Given the description of an element on the screen output the (x, y) to click on. 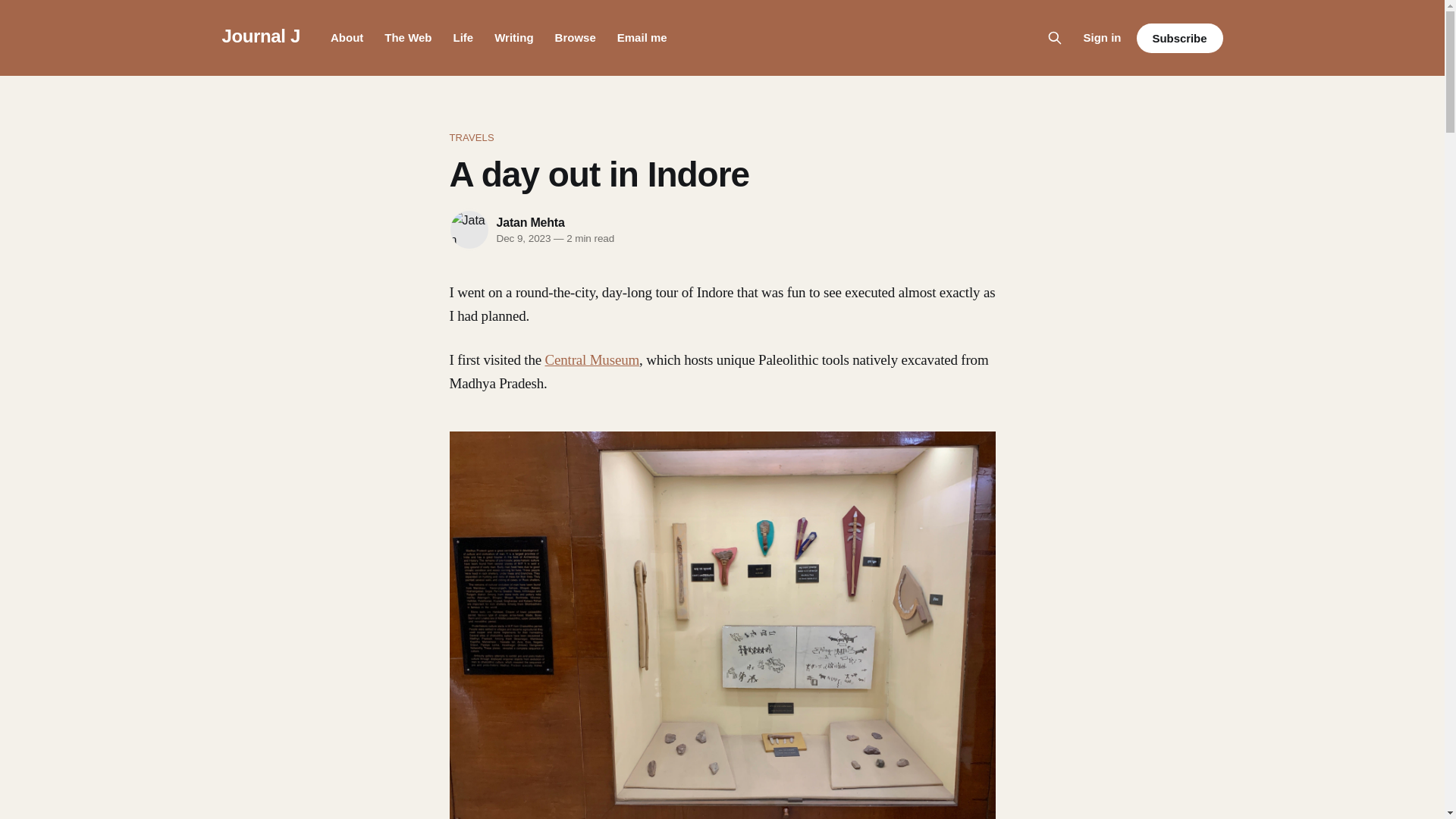
Browse (574, 37)
Central Museum (592, 359)
Email me (641, 37)
Writing (513, 37)
About (346, 37)
Subscribe (1179, 37)
Jatan Mehta (530, 222)
Sign in (1102, 37)
Journal J (260, 35)
The Web (407, 37)
